Given the description of an element on the screen output the (x, y) to click on. 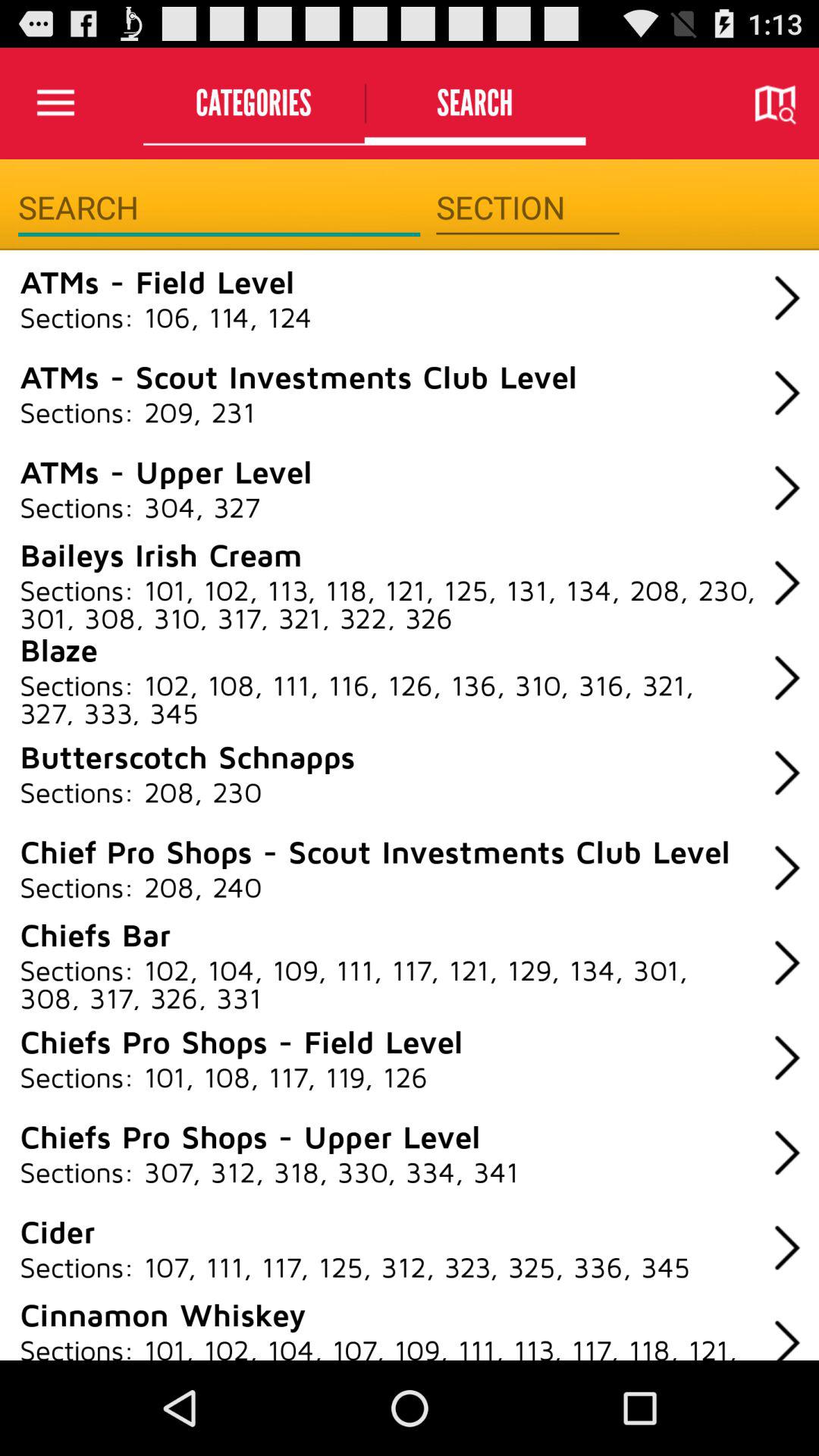
launch item to the left of categories icon (55, 103)
